Given the description of an element on the screen output the (x, y) to click on. 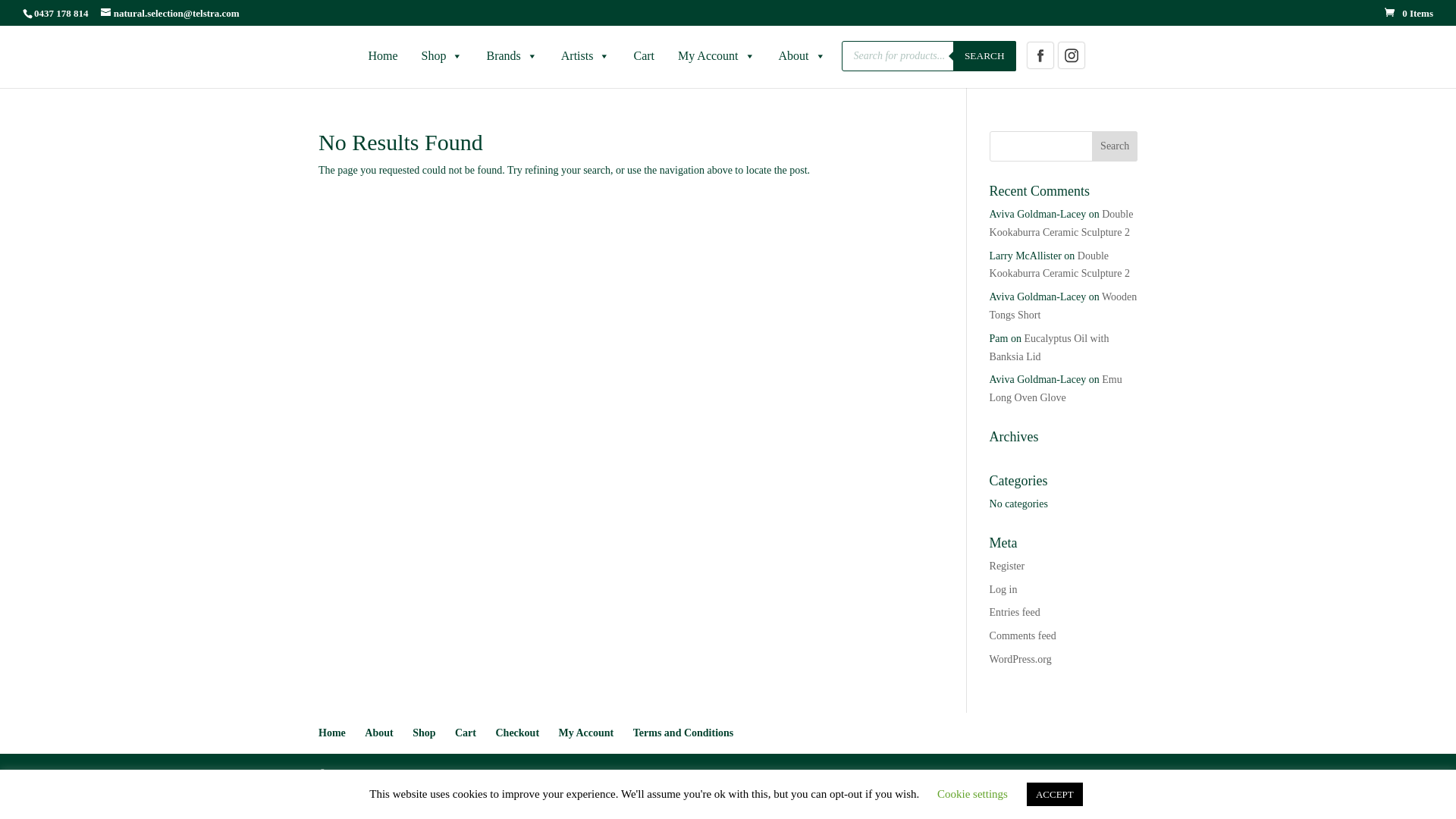
Double Kookaburra Ceramic Sculpture 2 Element type: text (1061, 223)
Register Element type: text (1007, 565)
About Element type: text (378, 732)
Search Element type: text (1114, 146)
Entries feed Element type: text (1014, 612)
Brands Element type: text (511, 55)
Joe Moreno Photography Element type: text (764, 773)
Emu Long Oven Glove Element type: text (1055, 388)
Home Element type: text (382, 55)
Shop Element type: text (442, 55)
Checkout Element type: text (517, 732)
About Element type: text (802, 55)
Wooden Tongs Short Element type: text (1063, 305)
Hike Marketing Element type: text (582, 773)
0 Items Element type: text (1408, 12)
Artists Element type: text (585, 55)
Eucalyptus Oil with Banksia Lid Element type: text (1049, 347)
Log in Element type: text (1003, 589)
Double Kookaburra Ceramic Sculpture 2 Element type: text (1059, 264)
natural.selection@telstra.com Element type: text (169, 12)
My Account Element type: text (716, 55)
Visit Us On Facebook Element type: hover (1039, 66)
WordPress.org Element type: text (1020, 659)
Visit Us On Instagram Element type: hover (1070, 66)
My Account Element type: text (586, 732)
Shop Element type: text (423, 732)
SEARCH Element type: text (984, 55)
Comments feed Element type: text (1022, 635)
Home Element type: text (331, 732)
Terms and Conditions Element type: text (683, 732)
ACCEPT Element type: text (1054, 794)
Cart Element type: text (465, 732)
Cookie settings Element type: text (972, 793)
Cart Element type: text (643, 55)
